Given the description of an element on the screen output the (x, y) to click on. 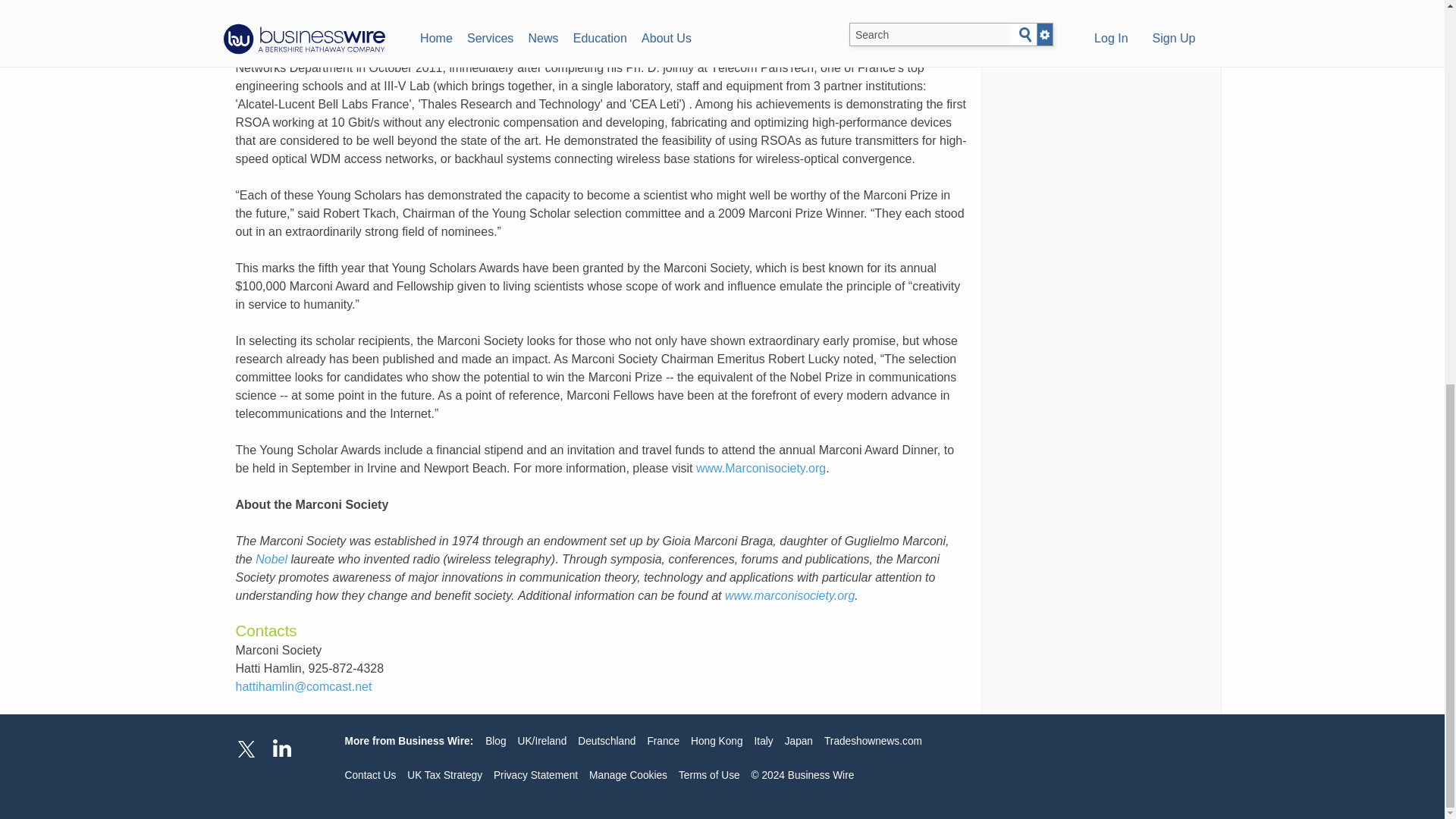
www.Marconisociety.org (760, 468)
Nobel (271, 558)
www.marconisociety.org (789, 594)
